Given the description of an element on the screen output the (x, y) to click on. 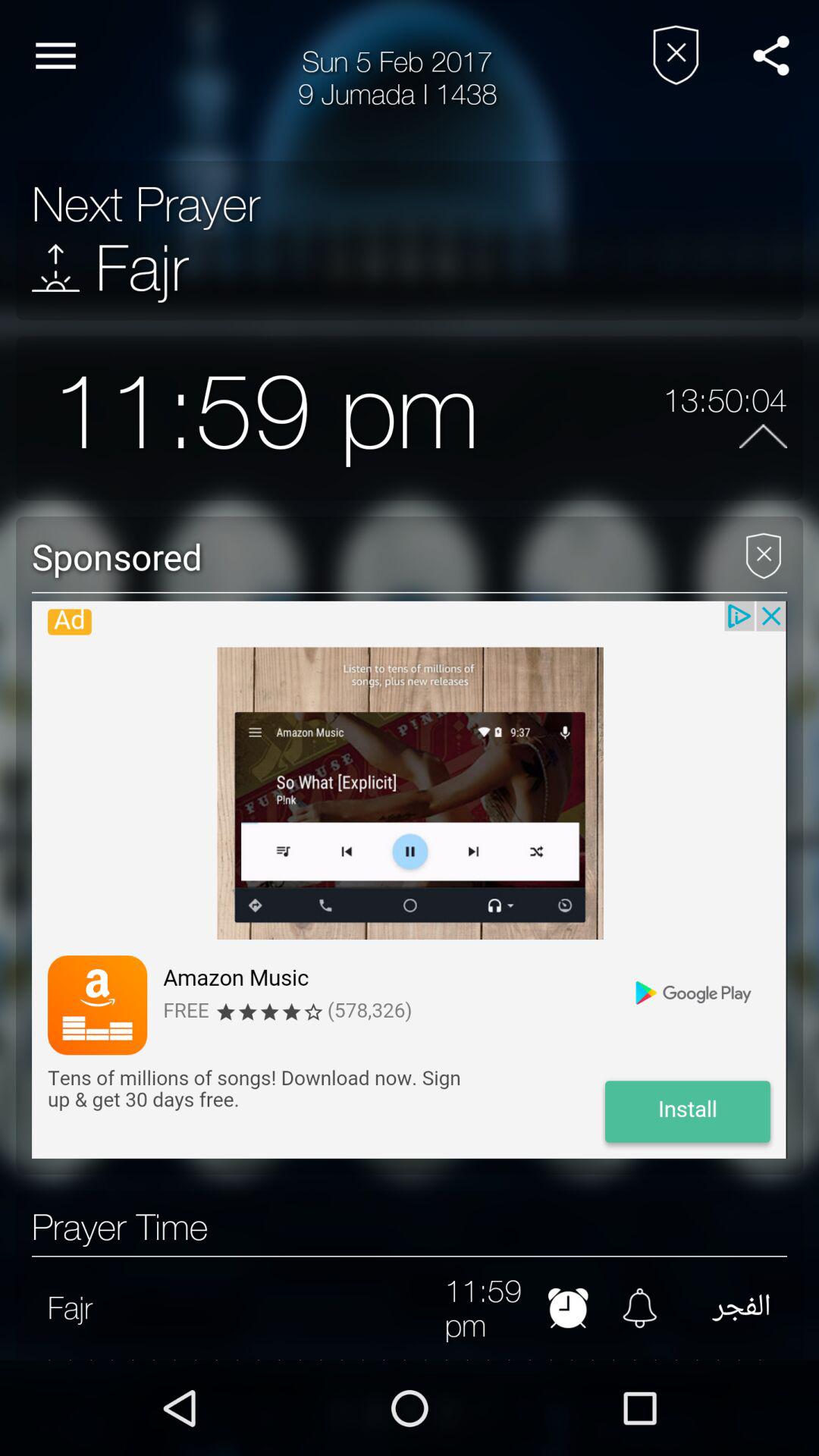
tap icon above the 11:59 pm item (55, 267)
